Given the description of an element on the screen output the (x, y) to click on. 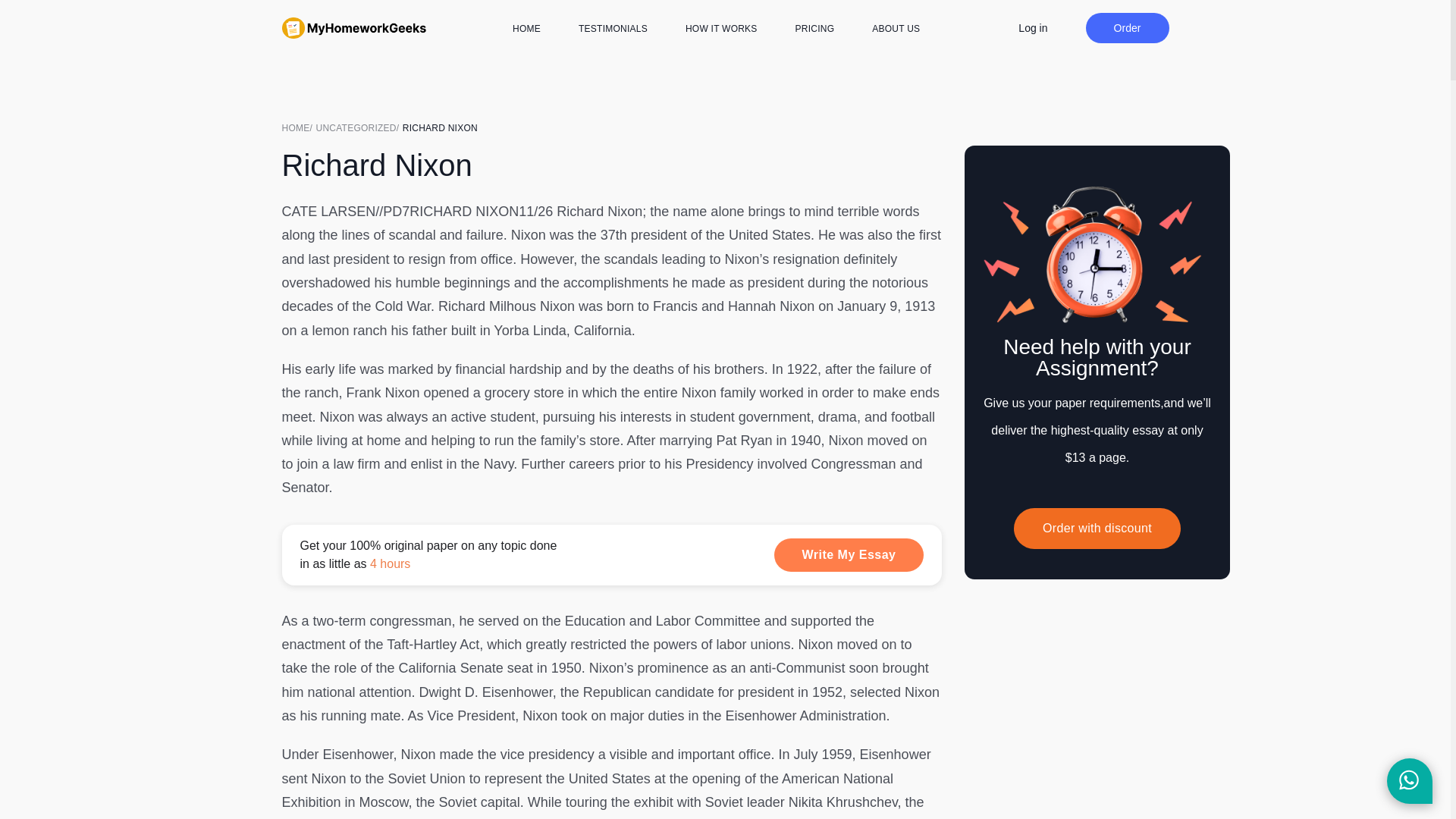
Order (1127, 28)
HOME (526, 28)
ABOUT US (896, 28)
Learn More (612, 554)
HOW IT WORKS (721, 28)
HOME (298, 126)
Log in (1031, 27)
Order with discount (1096, 527)
PRICING (814, 28)
TESTIMONIALS (612, 28)
Write My Essay (848, 554)
Go to MyhomeworkGeeks (298, 126)
